Given the description of an element on the screen output the (x, y) to click on. 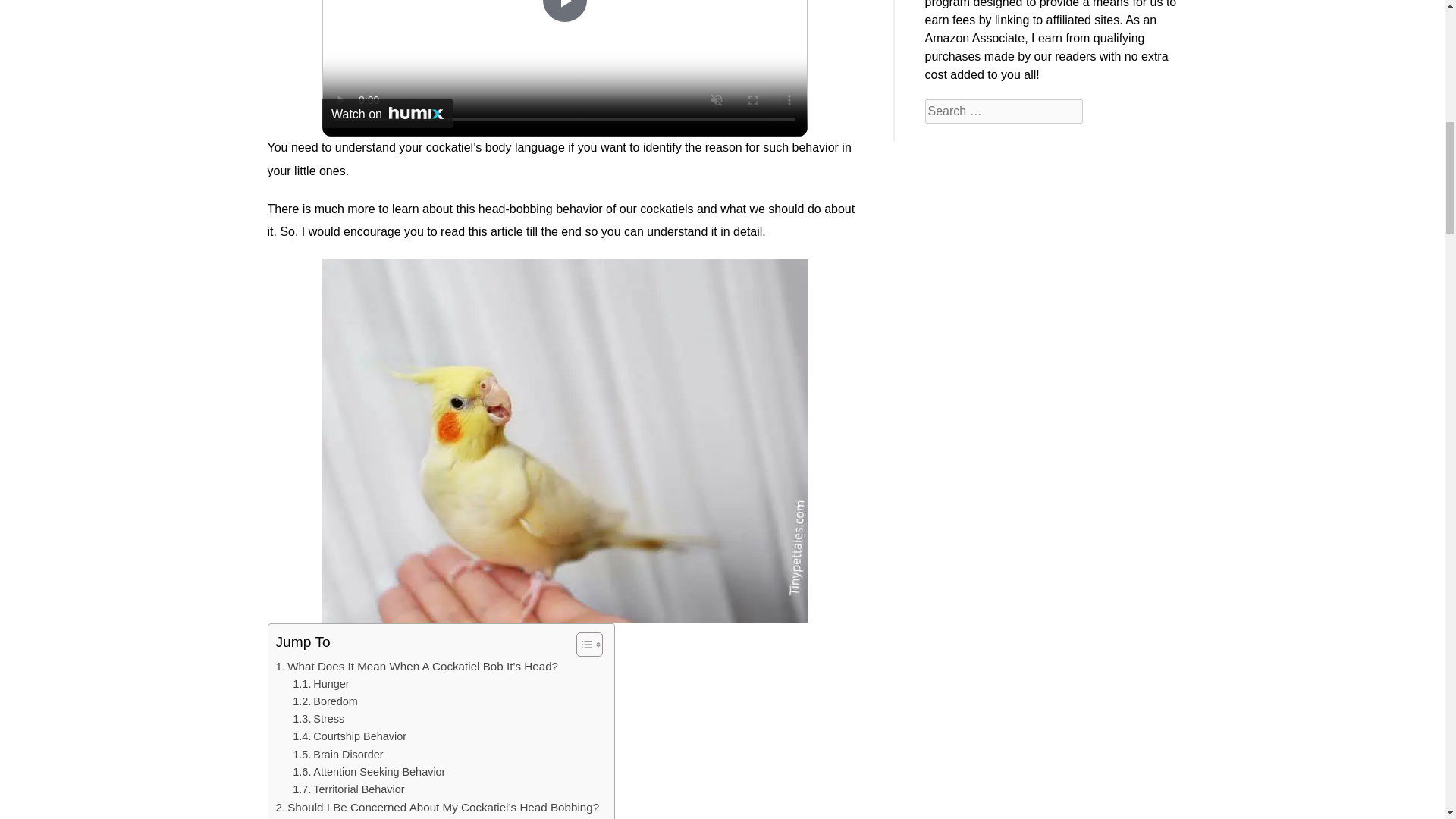
Stress (317, 719)
Attention Seeking Behavior (368, 772)
Hunger (320, 683)
Courtship Behavior (349, 736)
Brain Disorder (337, 754)
Boredom (325, 701)
Play Video (564, 11)
